Given the description of an element on the screen output the (x, y) to click on. 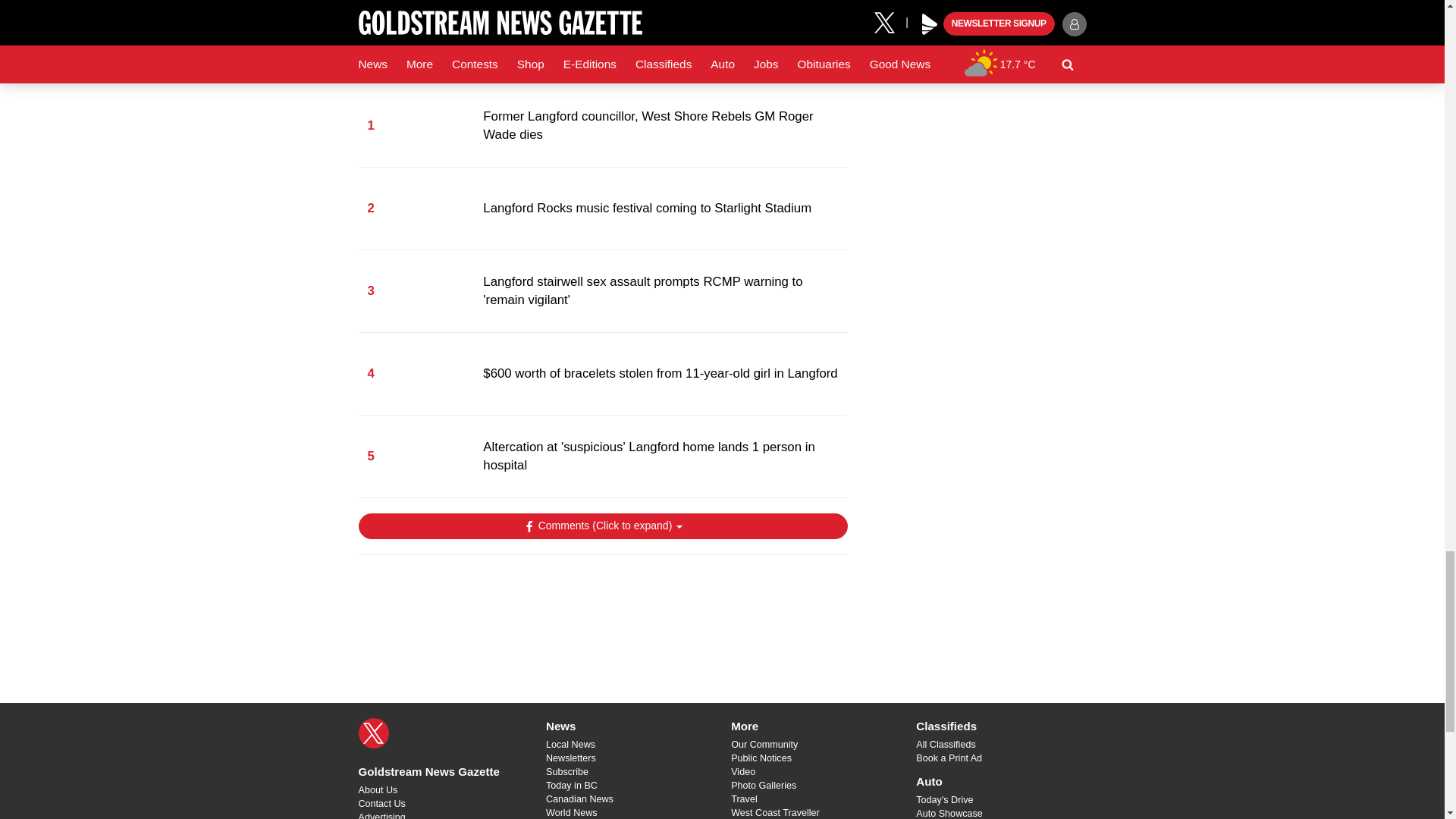
Show Comments (602, 525)
X (373, 733)
